Given the description of an element on the screen output the (x, y) to click on. 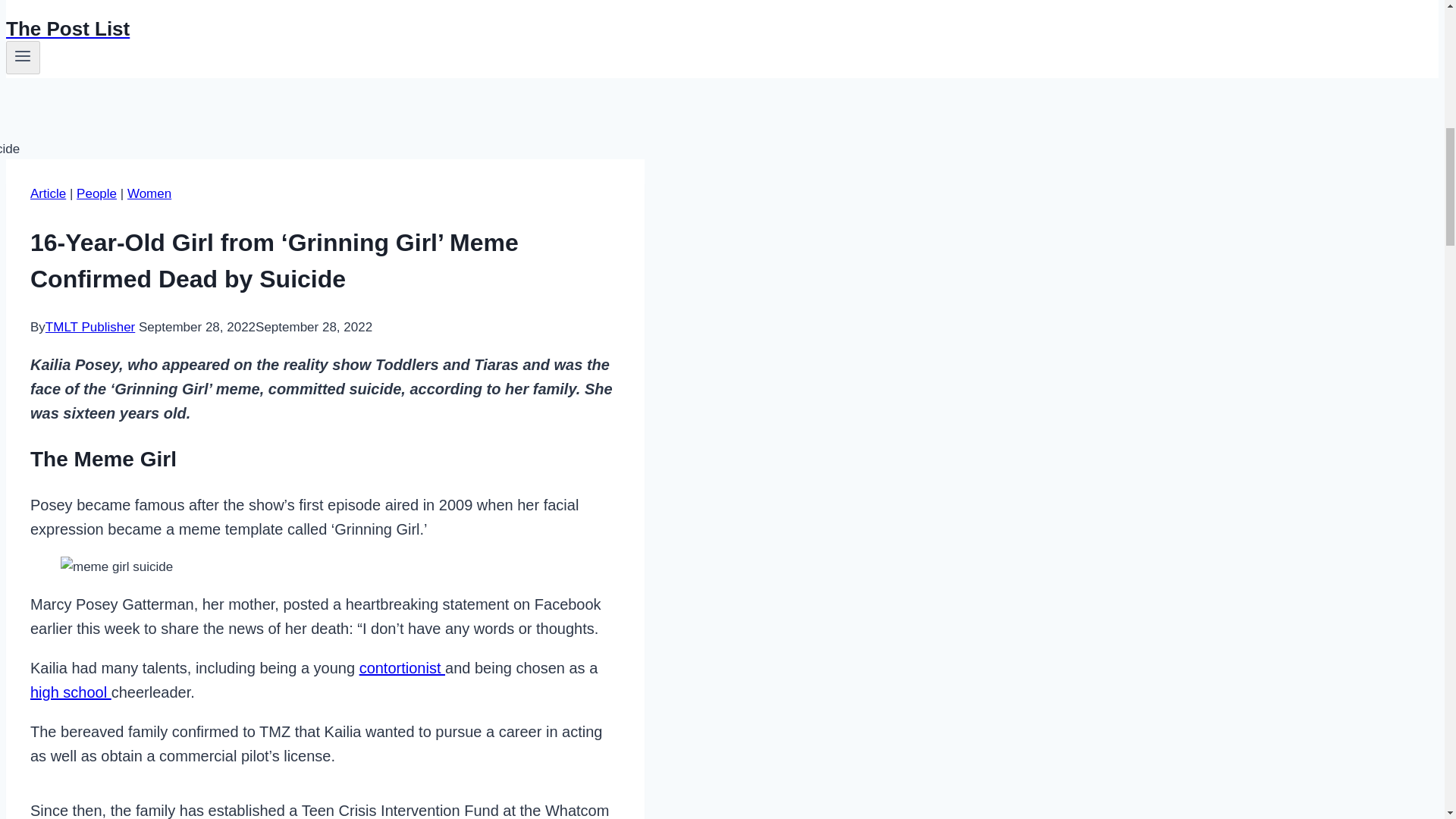
People (96, 193)
high school (71, 692)
Women (149, 193)
Privacy Policy (84, 4)
contortionist (402, 668)
The Post List (494, 28)
TMLT Publisher (90, 327)
Toggle Menu (22, 55)
Article (47, 193)
Toggle Menu (22, 57)
